Given the description of an element on the screen output the (x, y) to click on. 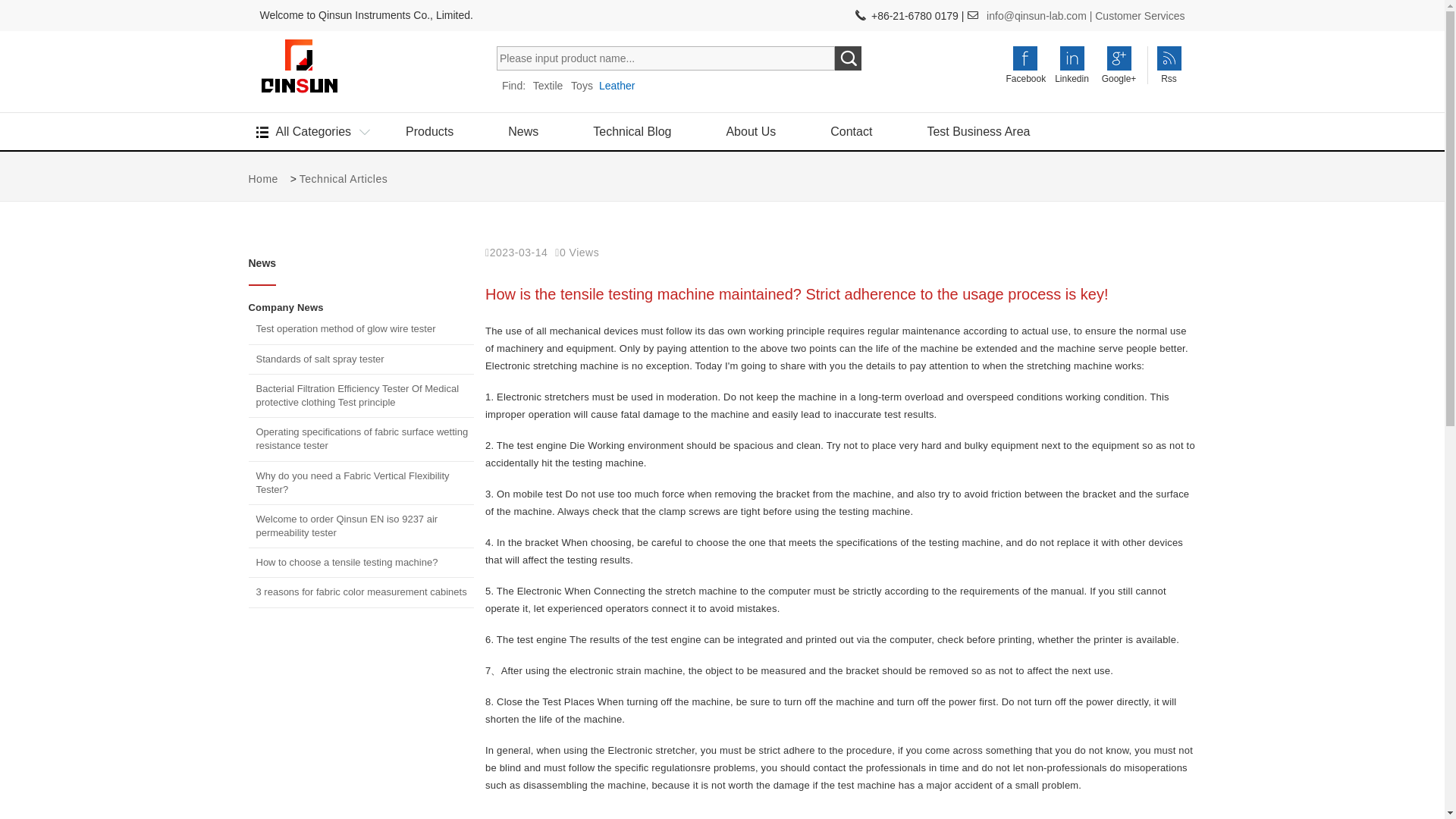
Customer Services (1139, 15)
All Categories (313, 131)
Leather (616, 85)
Linkedin (1071, 67)
Facebook (1025, 67)
